Given the description of an element on the screen output the (x, y) to click on. 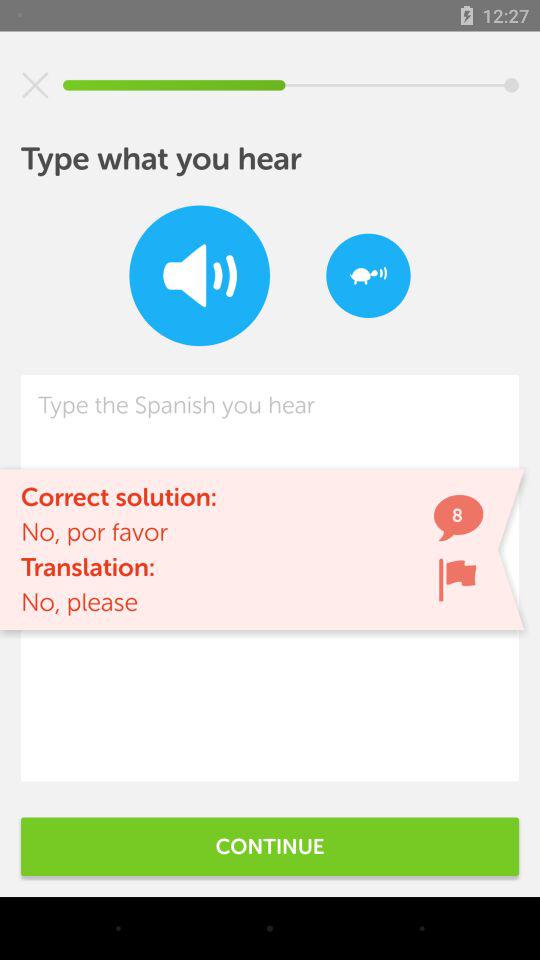
flogging (457, 579)
